Given the description of an element on the screen output the (x, y) to click on. 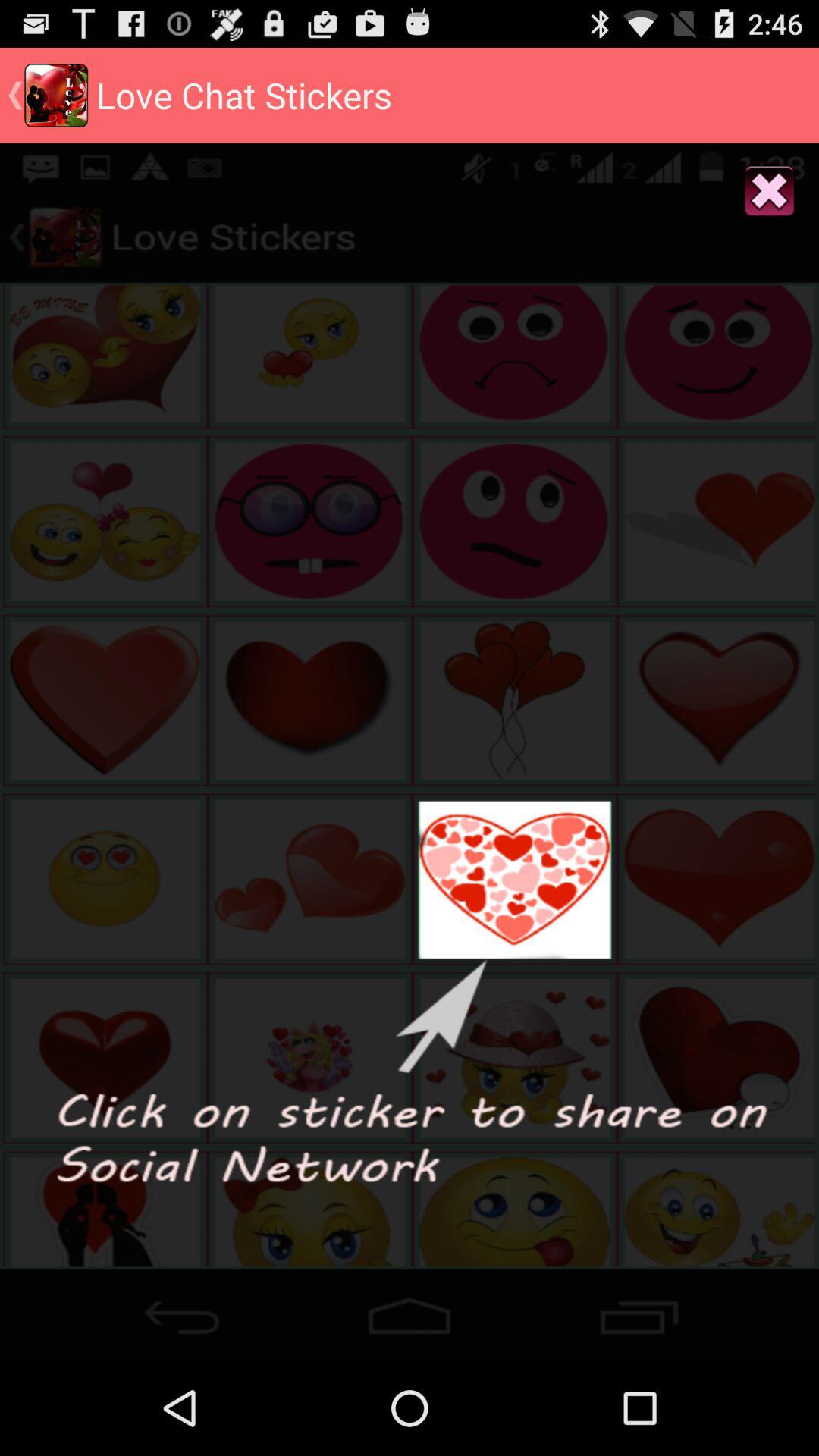
close (769, 192)
